Given the description of an element on the screen output the (x, y) to click on. 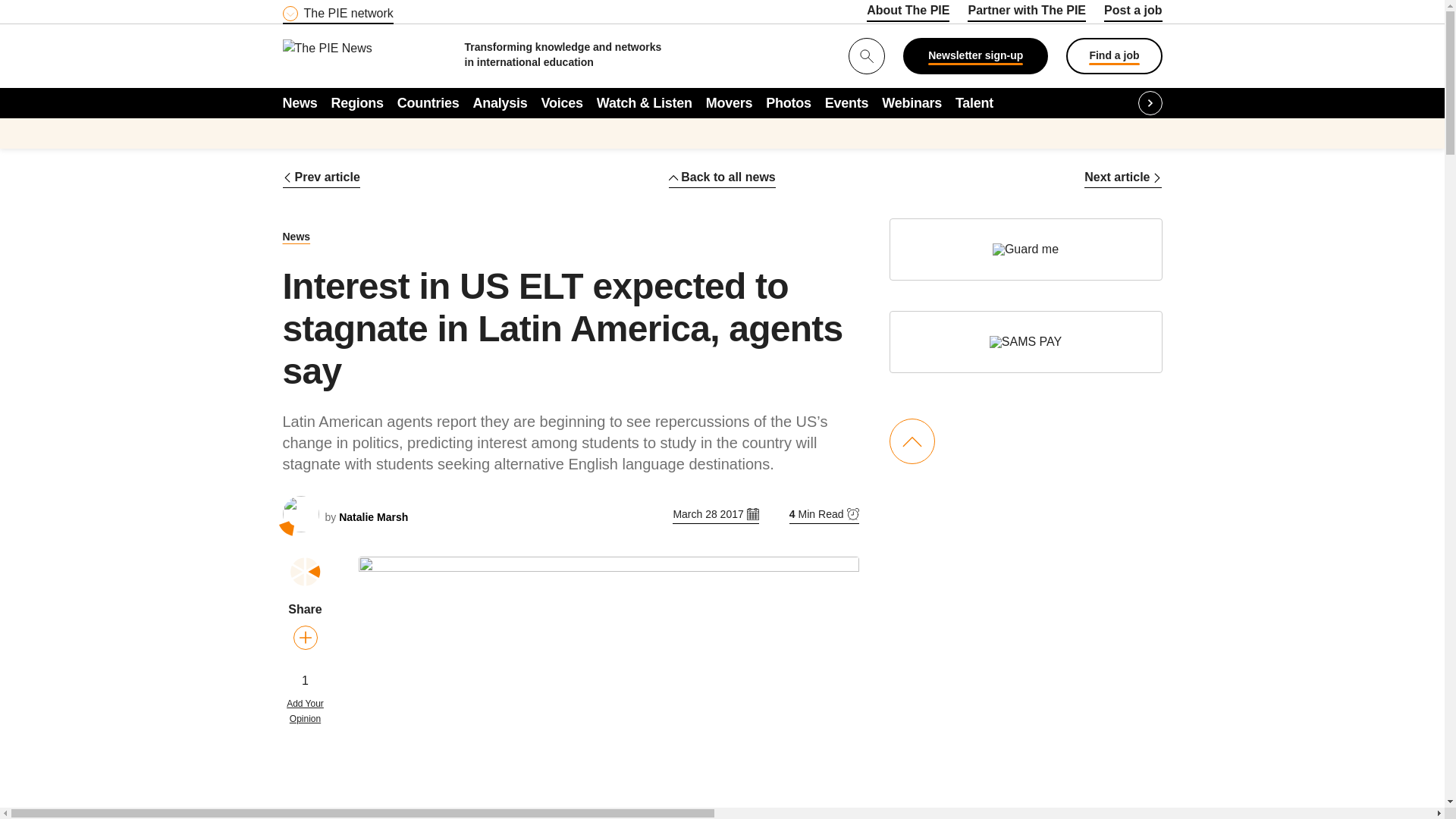
Content (373, 9)
Submit (18, 9)
Newsletter sign-up (975, 55)
Find a job (1113, 55)
Regions (357, 102)
Partner with The PIE (1027, 13)
Post a job (1132, 13)
Countries (428, 102)
About The PIE (907, 13)
